Given the description of an element on the screen output the (x, y) to click on. 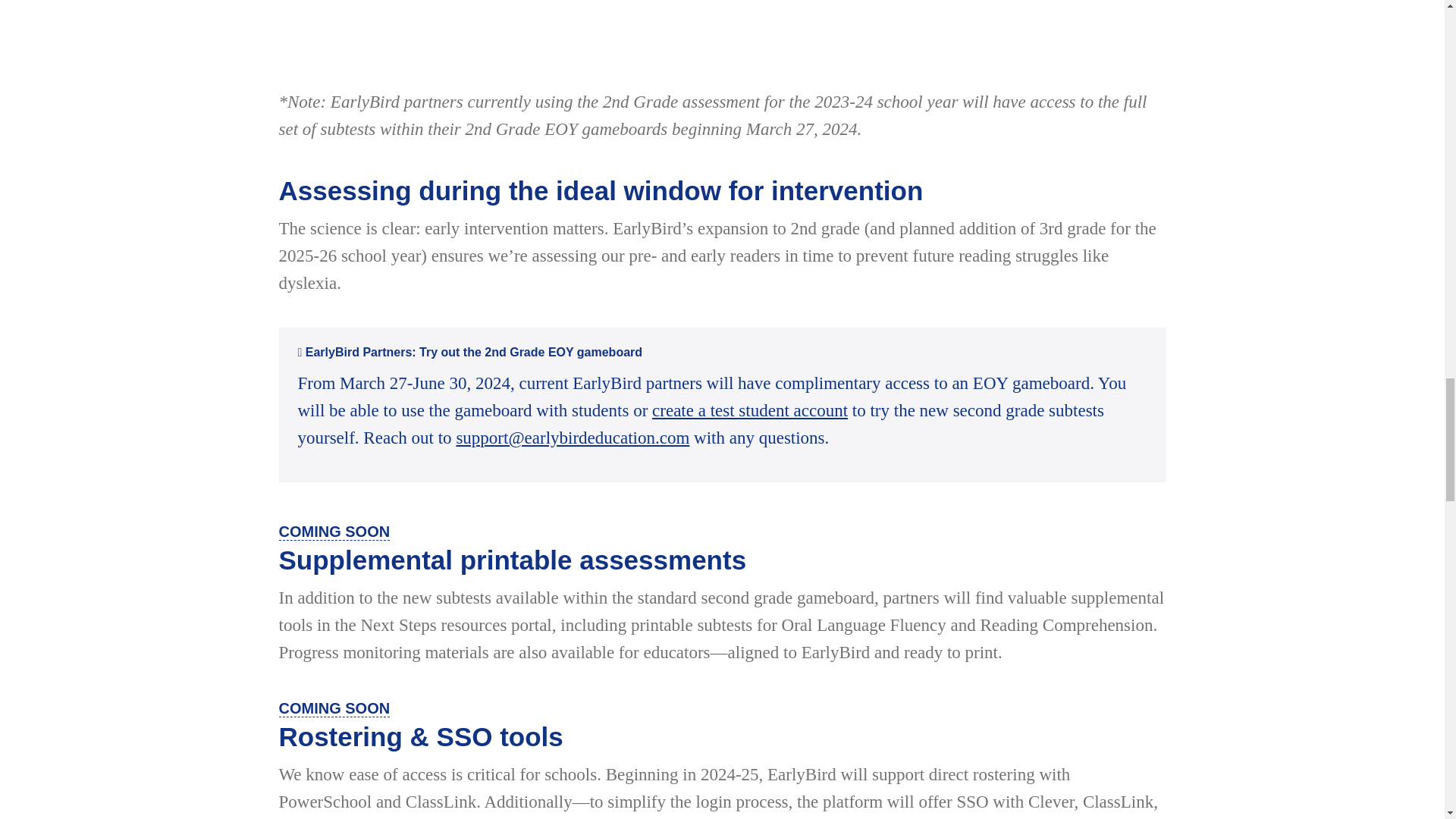
create a test student account (749, 410)
